Given the description of an element on the screen output the (x, y) to click on. 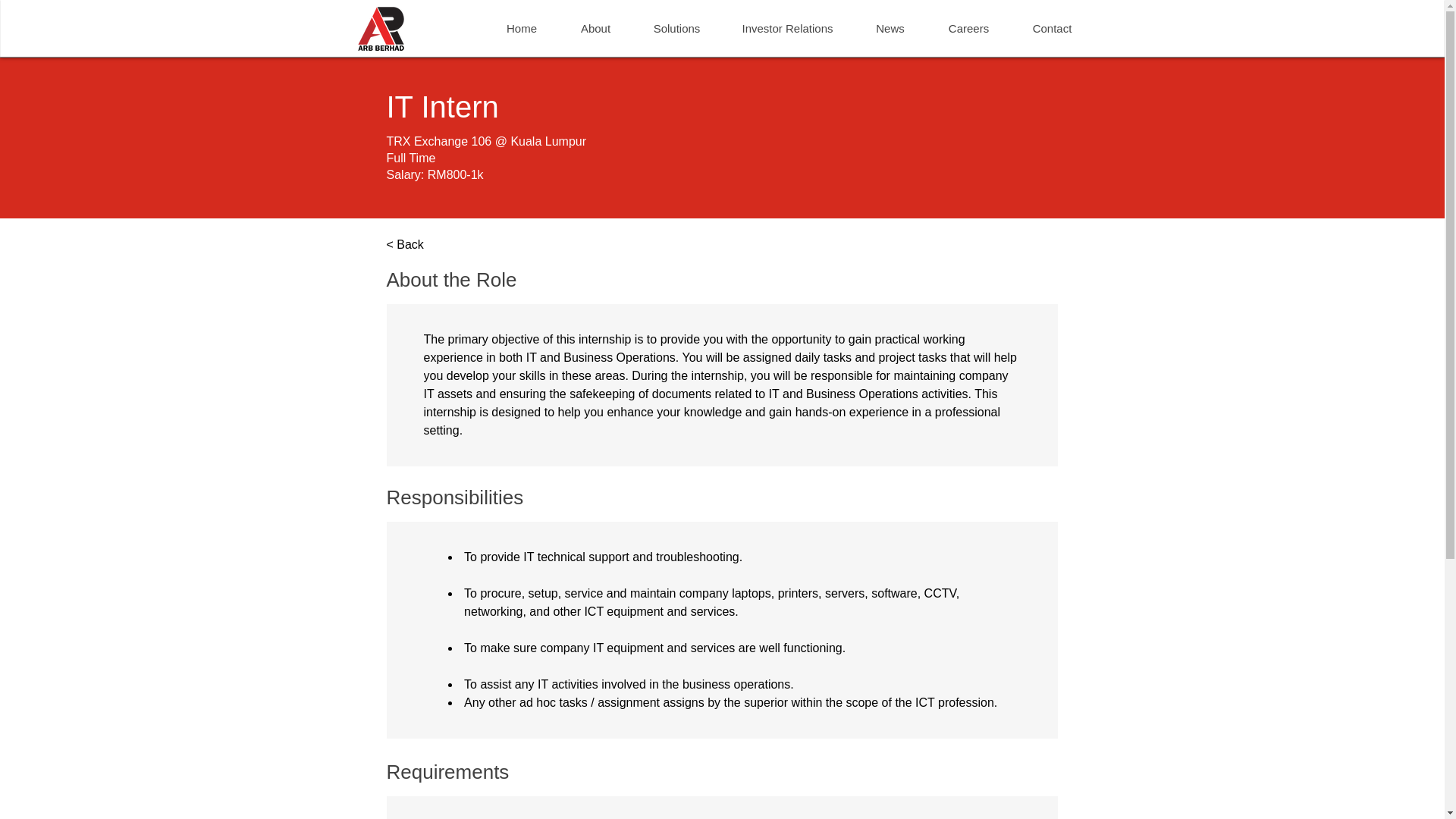
News (889, 28)
Careers (968, 28)
About (594, 28)
Home (521, 28)
Solutions (675, 28)
Contact (1051, 28)
